Given the description of an element on the screen output the (x, y) to click on. 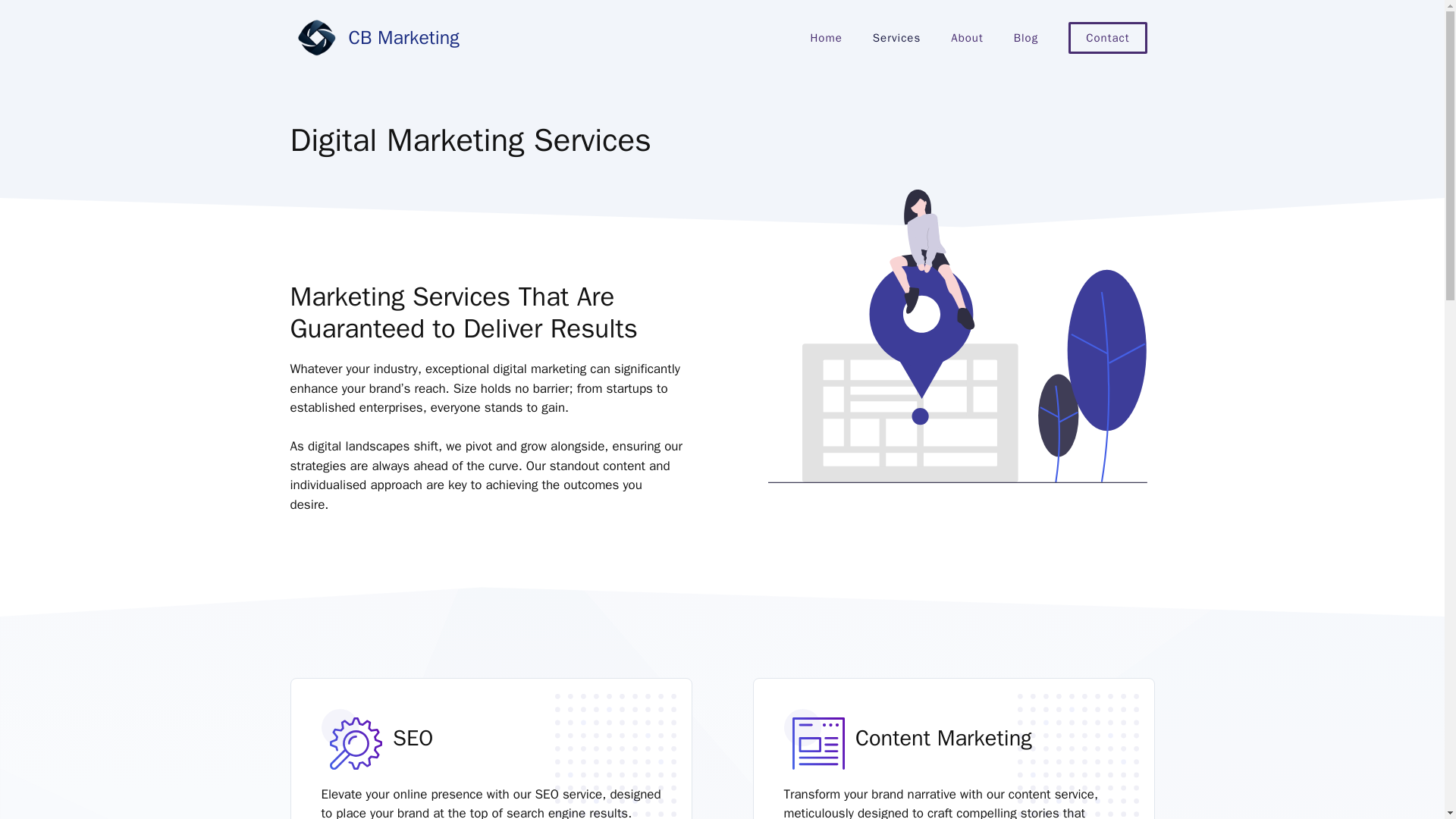
Home (825, 37)
About (966, 37)
Blog (1025, 37)
CB Marketing (404, 37)
Contact (1107, 38)
Services (896, 37)
